Given the description of an element on the screen output the (x, y) to click on. 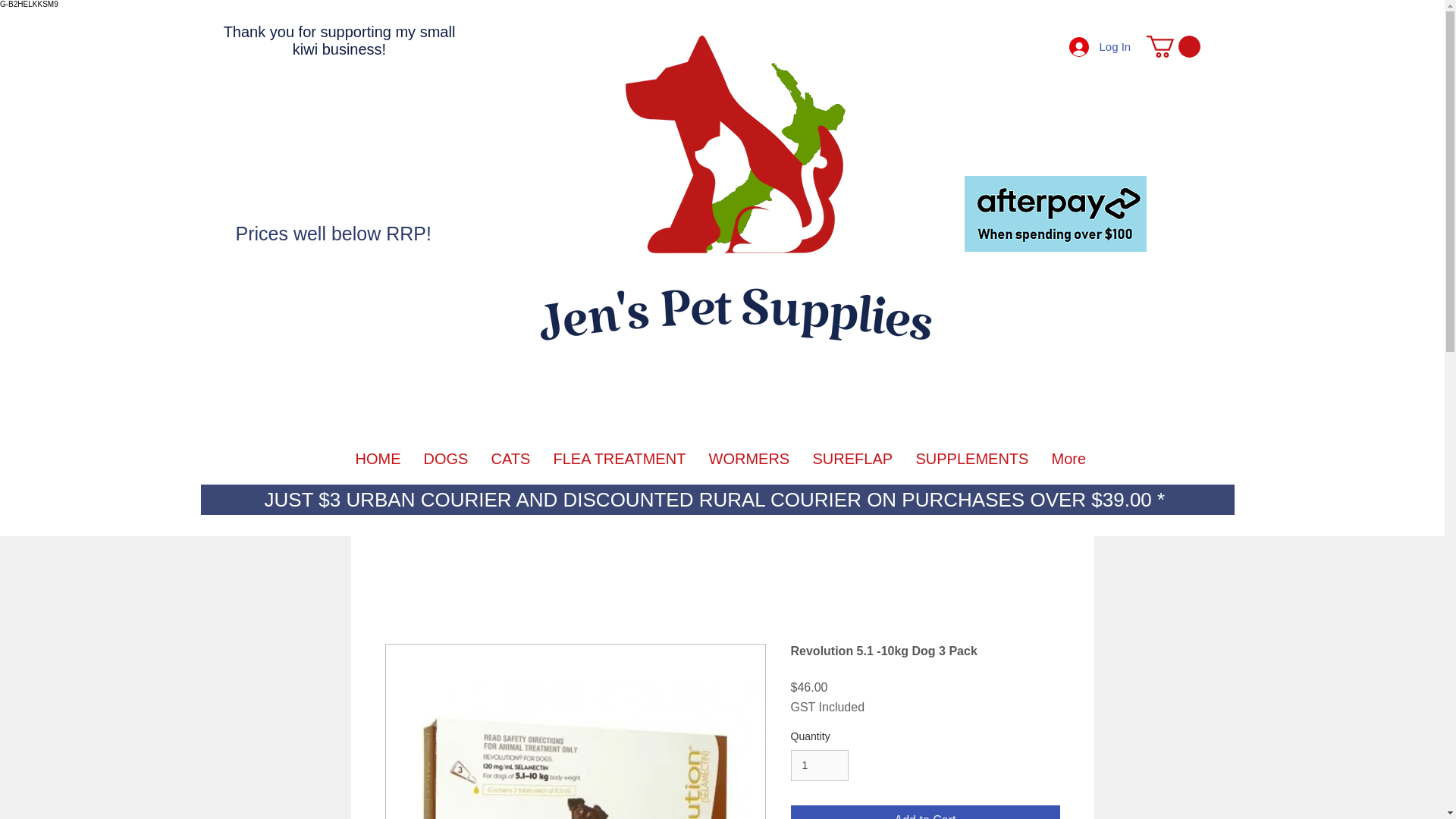
Log In (1092, 45)
Facebook Like (338, 195)
Thank you for supporting my small kiwi business! (339, 40)
1 (818, 765)
HOME (377, 458)
